Given the description of an element on the screen output the (x, y) to click on. 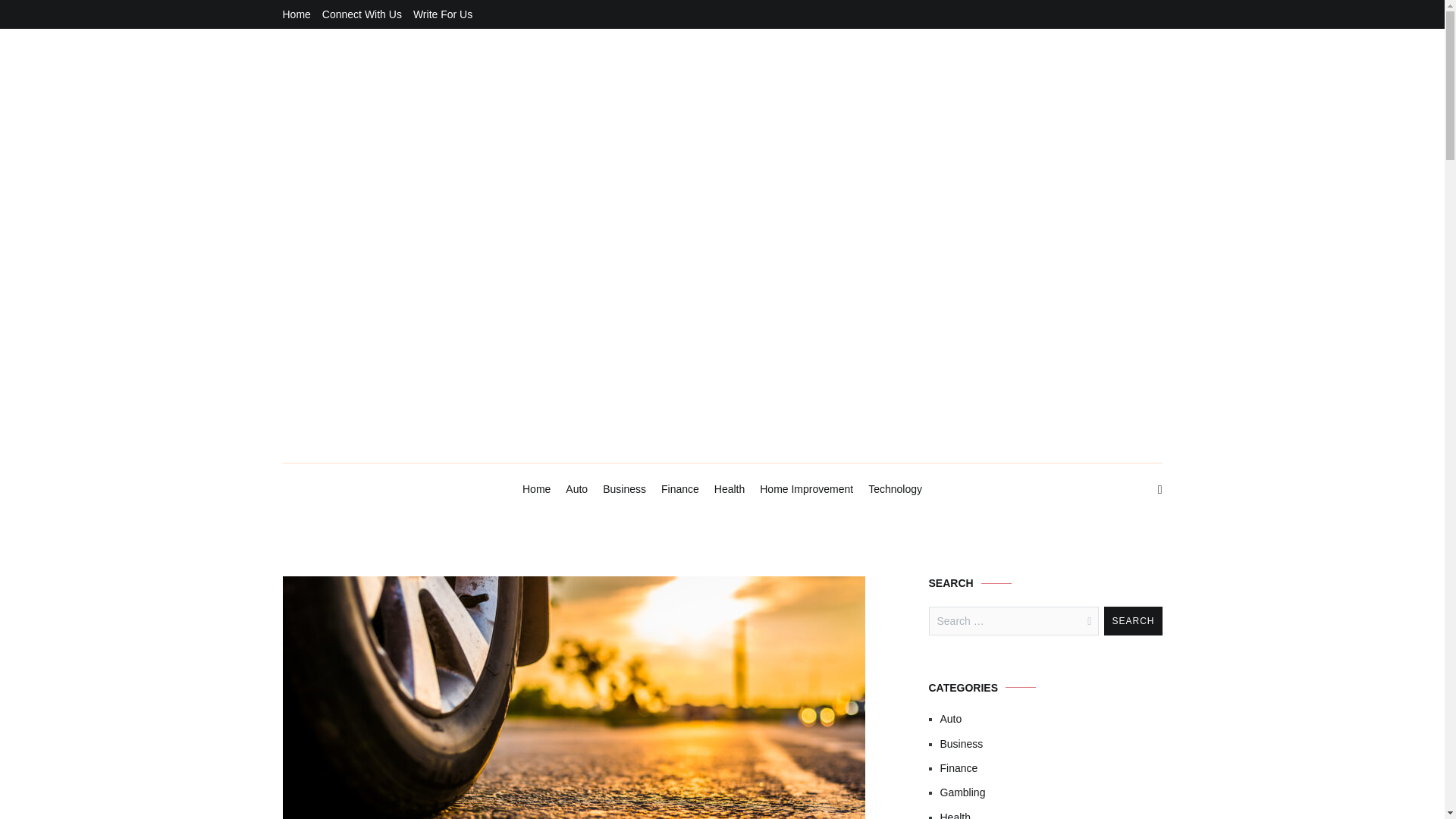
Gambling (1050, 791)
Search (1132, 620)
Finance (679, 489)
Health (729, 489)
Finance (1050, 768)
Home Improvement (806, 489)
Auto (577, 489)
Home (296, 14)
Search (1132, 620)
Write For Us (442, 14)
Search (1132, 620)
Tomorrow Holiday (598, 476)
Business (624, 489)
Technology (894, 489)
Home (536, 489)
